Given the description of an element on the screen output the (x, y) to click on. 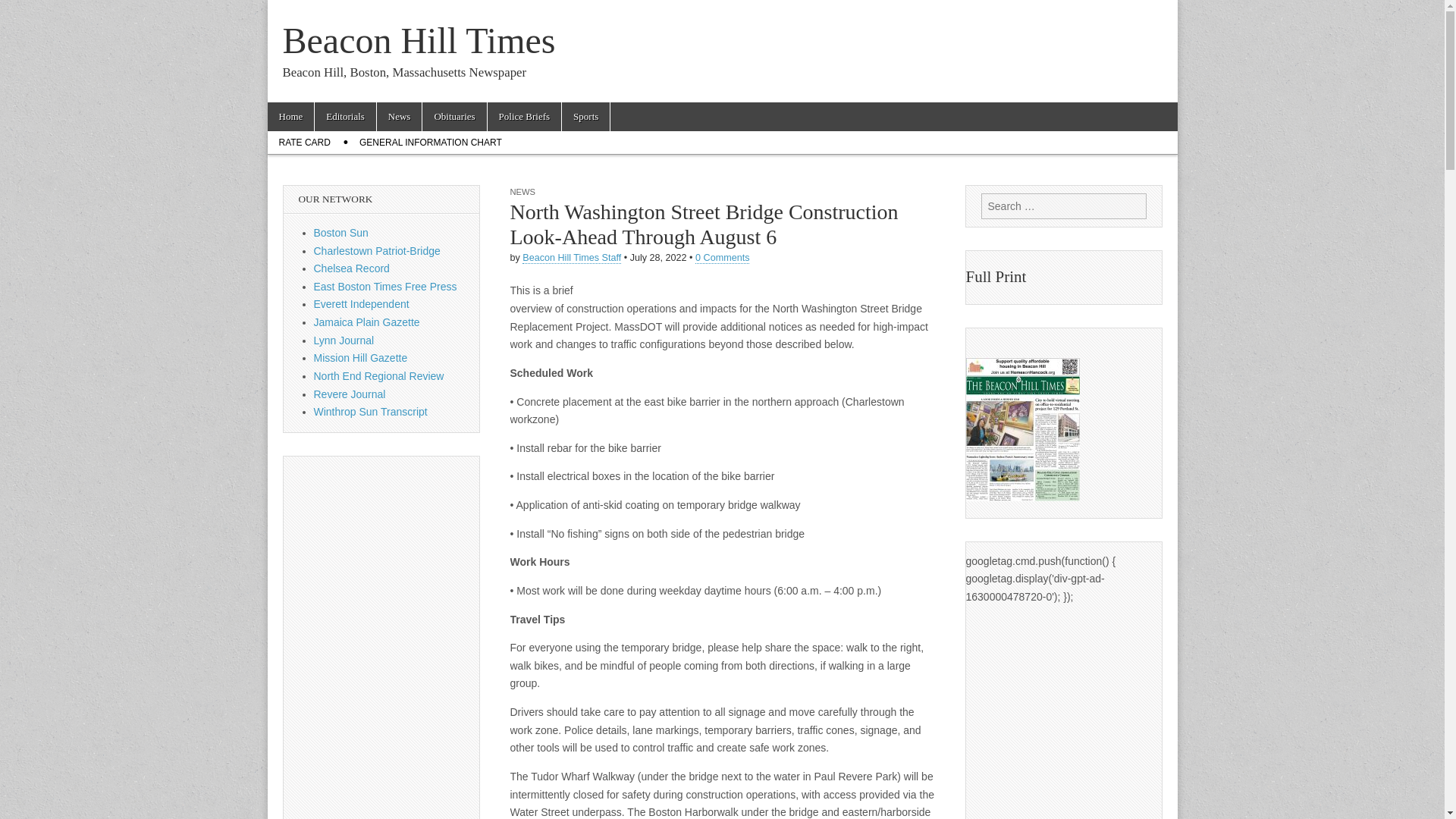
GENERAL INFORMATION CHART (430, 142)
Sports (586, 116)
Obituaries (454, 116)
NEWS (522, 191)
News (399, 116)
Boston Sun (341, 232)
Posts by Beacon Hill Times Staff (571, 257)
Everett Independent (361, 304)
Lynn Journal (344, 340)
Revere Journal (349, 394)
Beacon Hill Times Staff (571, 257)
Mission Hill Gazette (360, 357)
0 Comments (722, 257)
Home (290, 116)
